Given the description of an element on the screen output the (x, y) to click on. 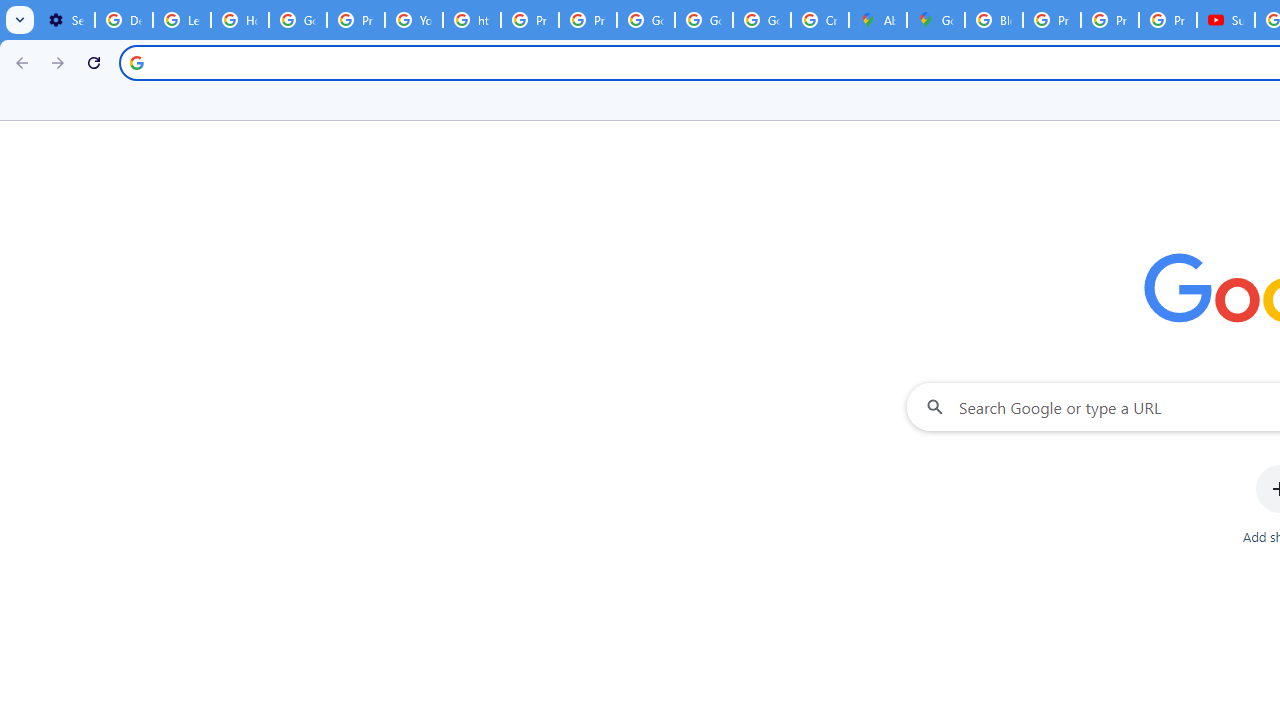
Subscriptions - YouTube (1225, 20)
Privacy Help Center - Policies Help (1051, 20)
https://scholar.google.com/ (471, 20)
Search icon (136, 62)
Settings - Customize profile (65, 20)
Privacy Help Center - Policies Help (355, 20)
Back (19, 62)
Search tabs (20, 20)
Reload (93, 62)
